Given the description of an element on the screen output the (x, y) to click on. 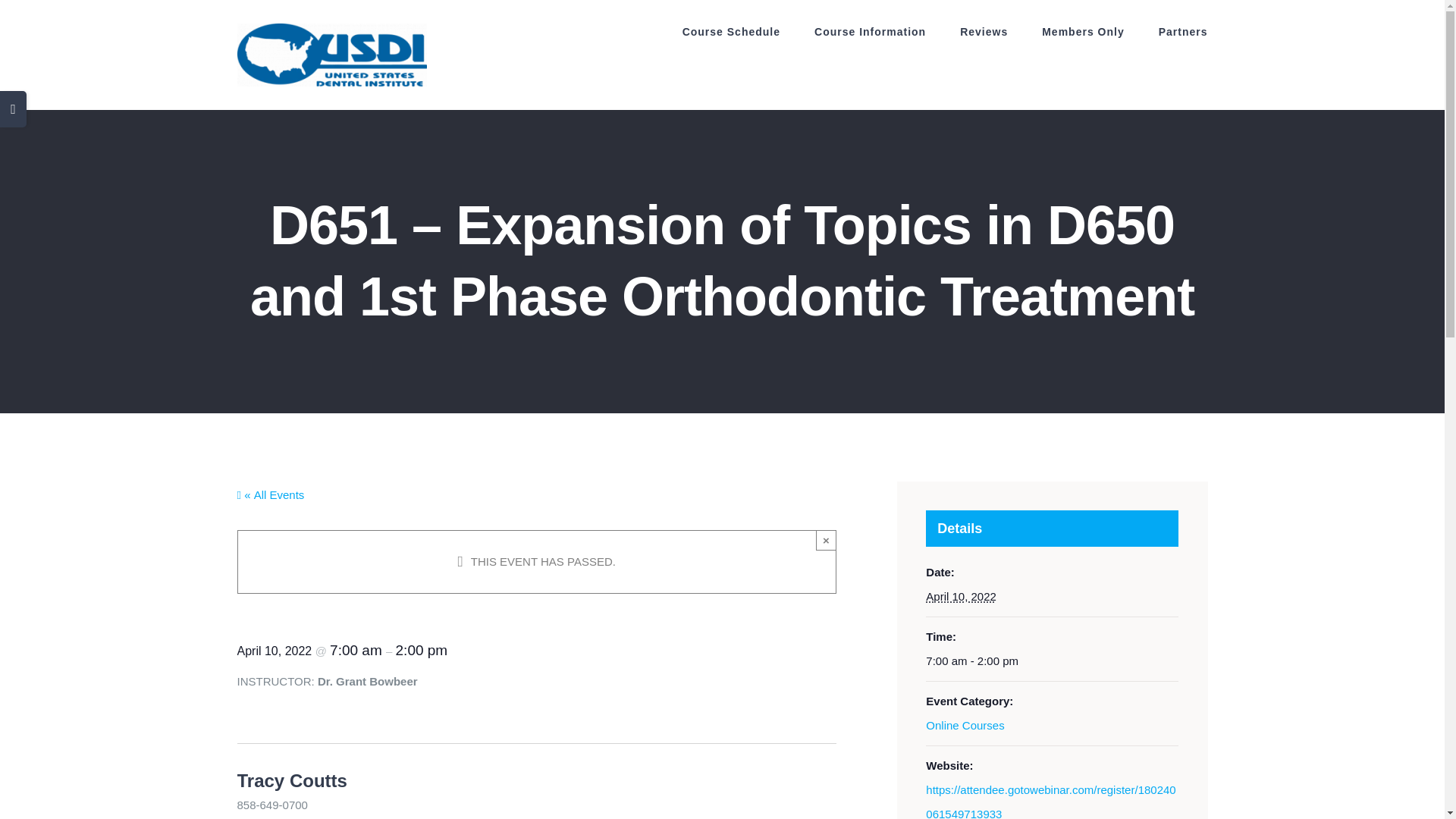
2022-04-10 (1051, 661)
2022-04-10 (960, 595)
Online Courses (965, 725)
Course Schedule (731, 31)
Members Only (1083, 31)
Course Information (869, 31)
